Given the description of an element on the screen output the (x, y) to click on. 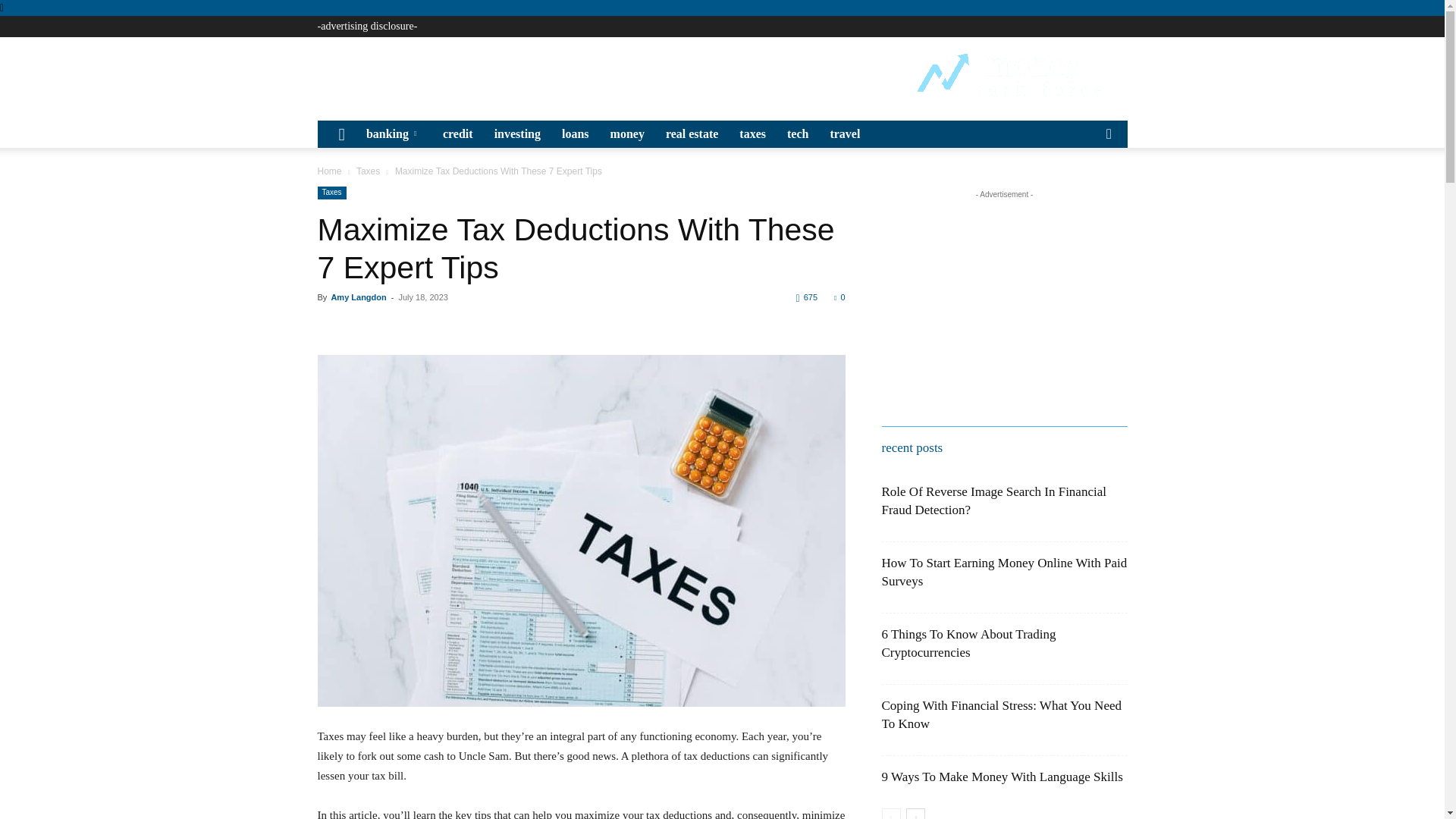
money (627, 134)
loans (575, 134)
travel (844, 134)
topFacebookLike (430, 324)
Taxes (331, 192)
Search (1085, 190)
Home (328, 171)
Taxes (368, 171)
real estate (692, 134)
Advertisement (593, 74)
banking (393, 134)
View all posts in Taxes (368, 171)
tech (797, 134)
